Given the description of an element on the screen output the (x, y) to click on. 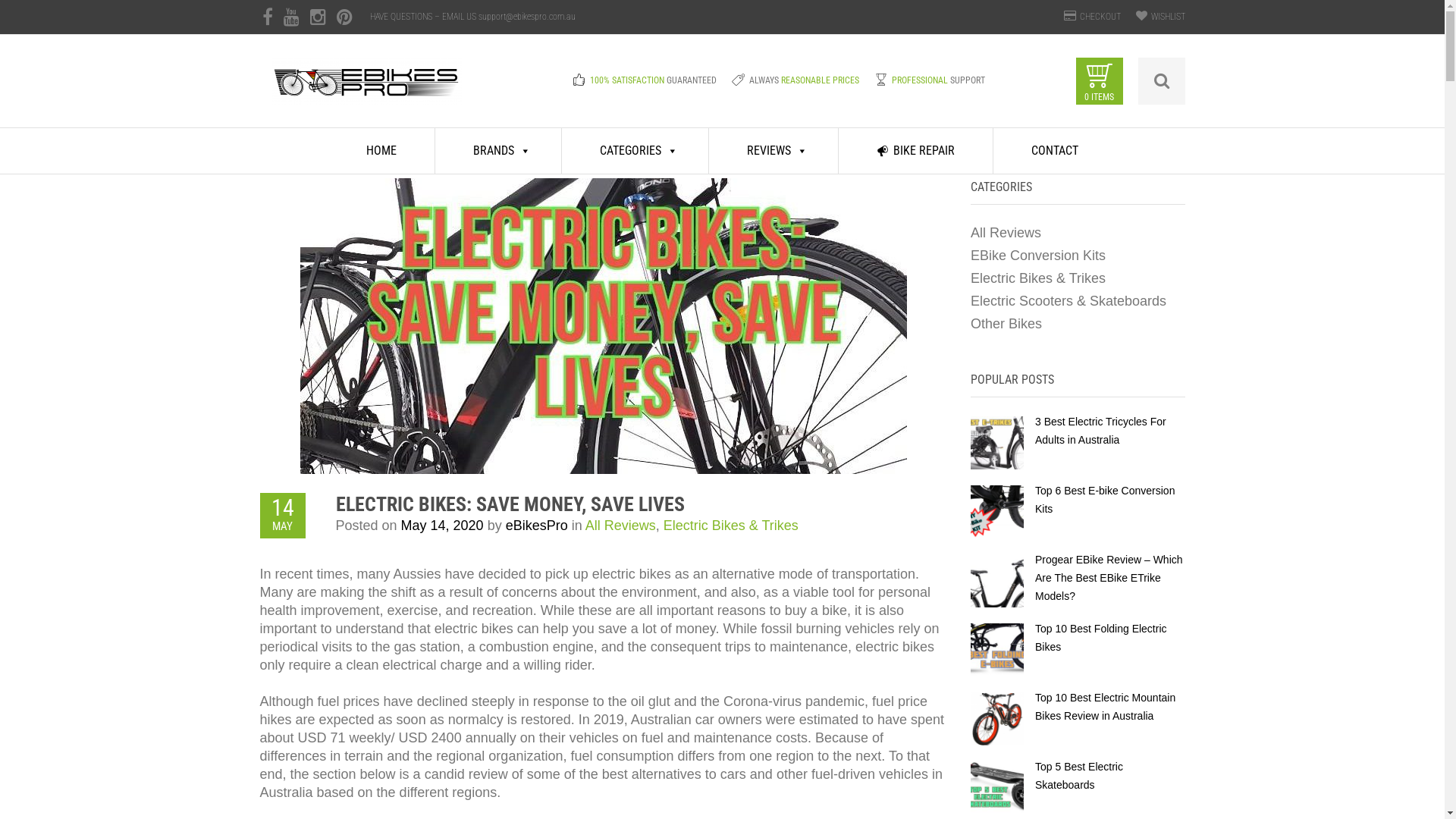
Top 5 Best Electric Skateboards Element type: text (1079, 775)
WISHLIST Element type: text (1168, 16)
CONTACT Element type: text (1054, 150)
HOME Element type: text (381, 150)
Electric Bikes & Trikes Element type: text (730, 525)
Click to learn more about Top 5 Best Electric Skateboards Element type: hover (996, 786)
EBike Conversion Kits Element type: text (1037, 255)
All Reviews Element type: text (1005, 232)
Top 10 Best Folding Electric Bikes Element type: text (1101, 637)
Other Bikes Element type: text (1005, 323)
Connect us Element type: hover (290, 17)
Electric Bikes & Trikes Element type: text (1037, 278)
Click to learn more about Top 10 Best Folding Electric Bikes Element type: hover (996, 648)
CATEGORIES Element type: text (635, 150)
Top 10 Best Electric Mountain Bikes Review in Australia Element type: text (1105, 706)
BRANDS Element type: text (498, 150)
Connect us Element type: hover (266, 17)
REVIEWS Element type: text (773, 150)
eBikesPro Element type: text (536, 525)
Electric Scooters & Skateboards Element type: text (1068, 300)
Click to learn more about Top 6 Best E-bike Conversion Kits Element type: hover (996, 510)
BIKE REPAIR Element type: text (915, 150)
All Reviews Element type: text (620, 525)
Connect us Element type: hover (343, 17)
Connect us Element type: hover (317, 17)
Top 6 Best E-bike Conversion Kits Element type: text (1104, 499)
CHECKOUT Element type: text (1099, 16)
EBikespro Australia Element type: hover (366, 91)
3 Best Electric Tricycles For Adults in Australia Element type: text (1100, 430)
Skip to content Element type: text (259, 127)
